Given the description of an element on the screen output the (x, y) to click on. 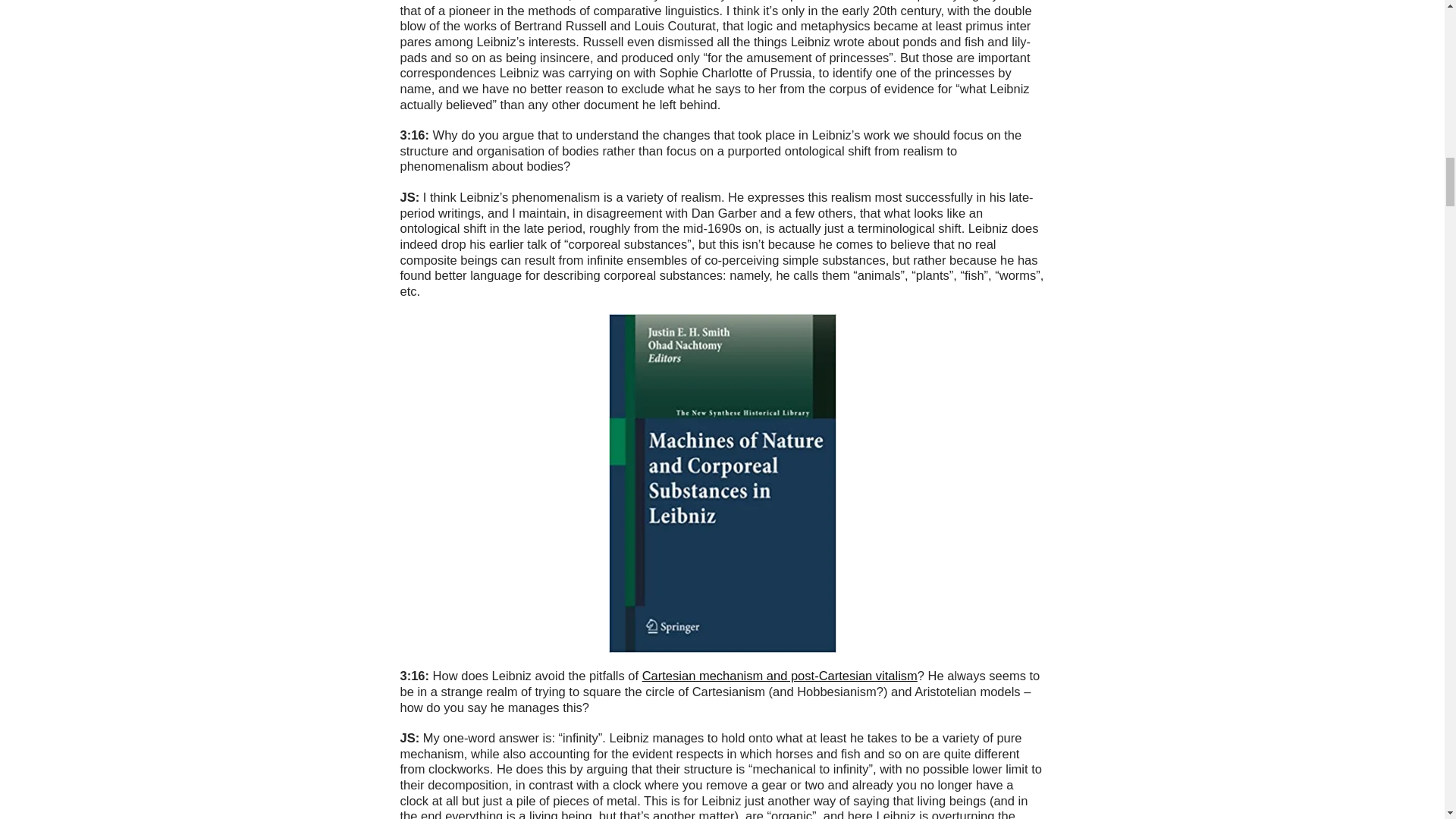
Cartesian mechanism and post-Cartesian vitalism (779, 675)
